Given the description of an element on the screen output the (x, y) to click on. 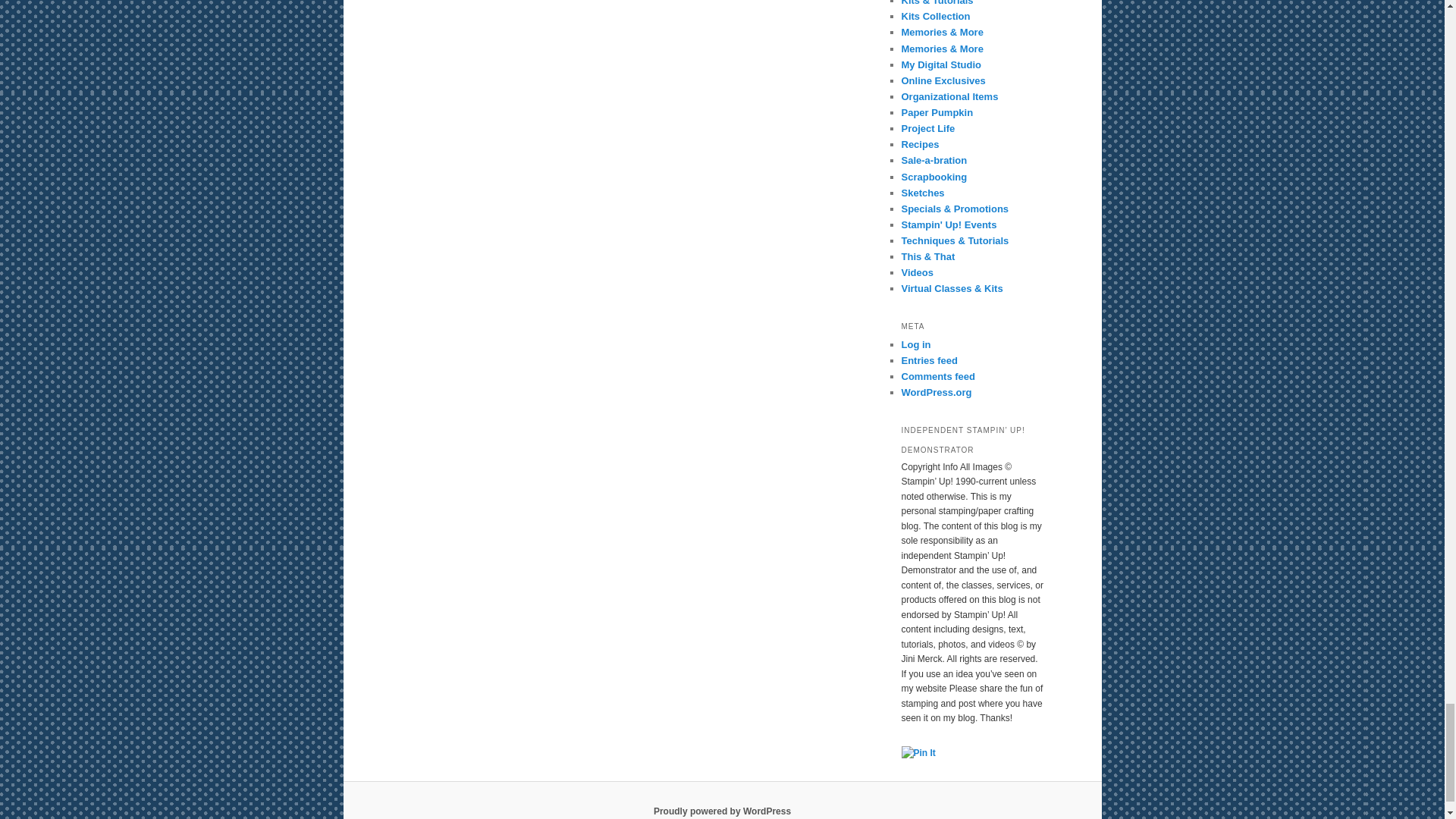
Pin It (917, 753)
Semantic Personal Publishing Platform (721, 810)
